Given the description of an element on the screen output the (x, y) to click on. 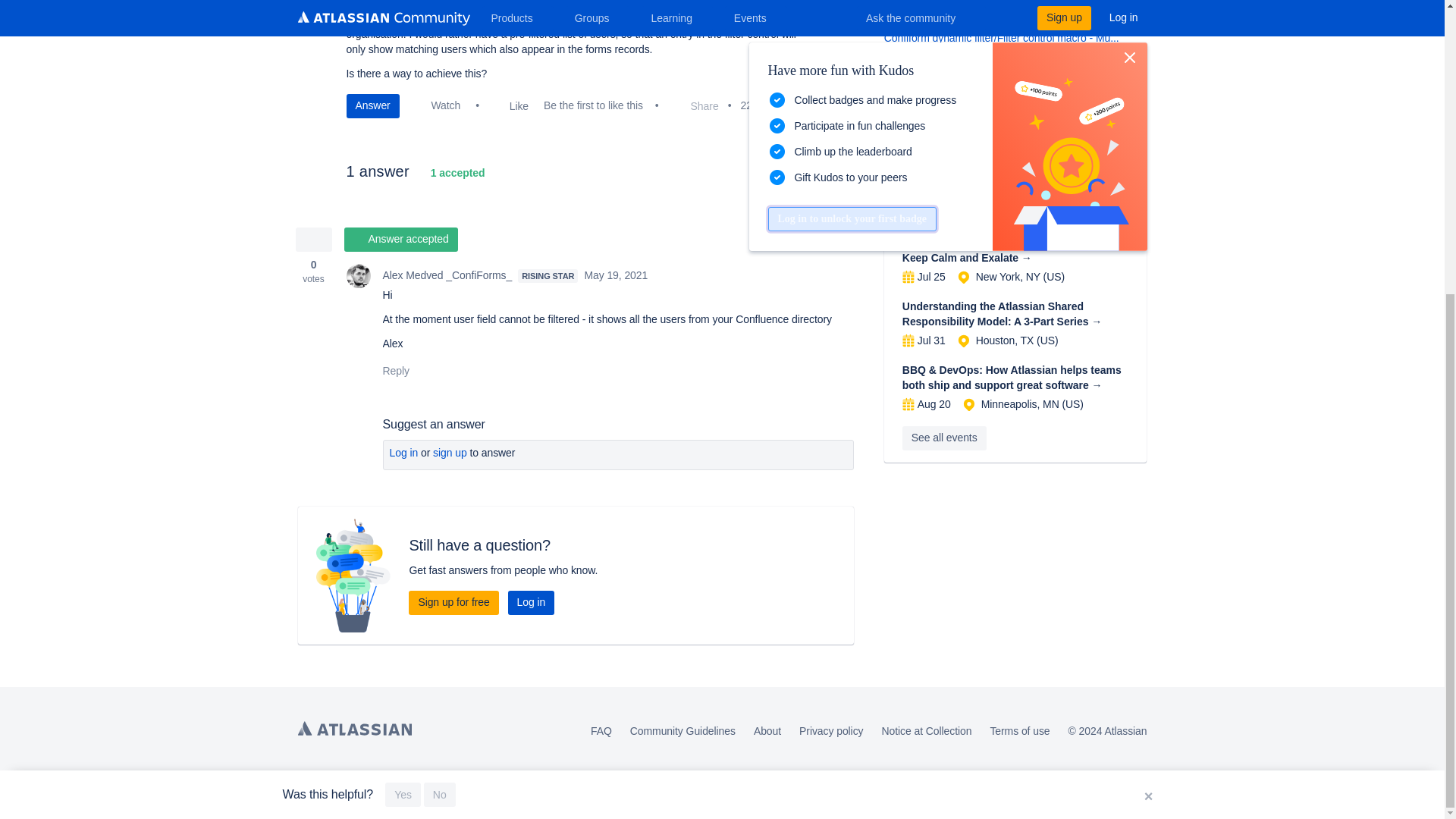
AUG Leaders (911, 229)
